Given the description of an element on the screen output the (x, y) to click on. 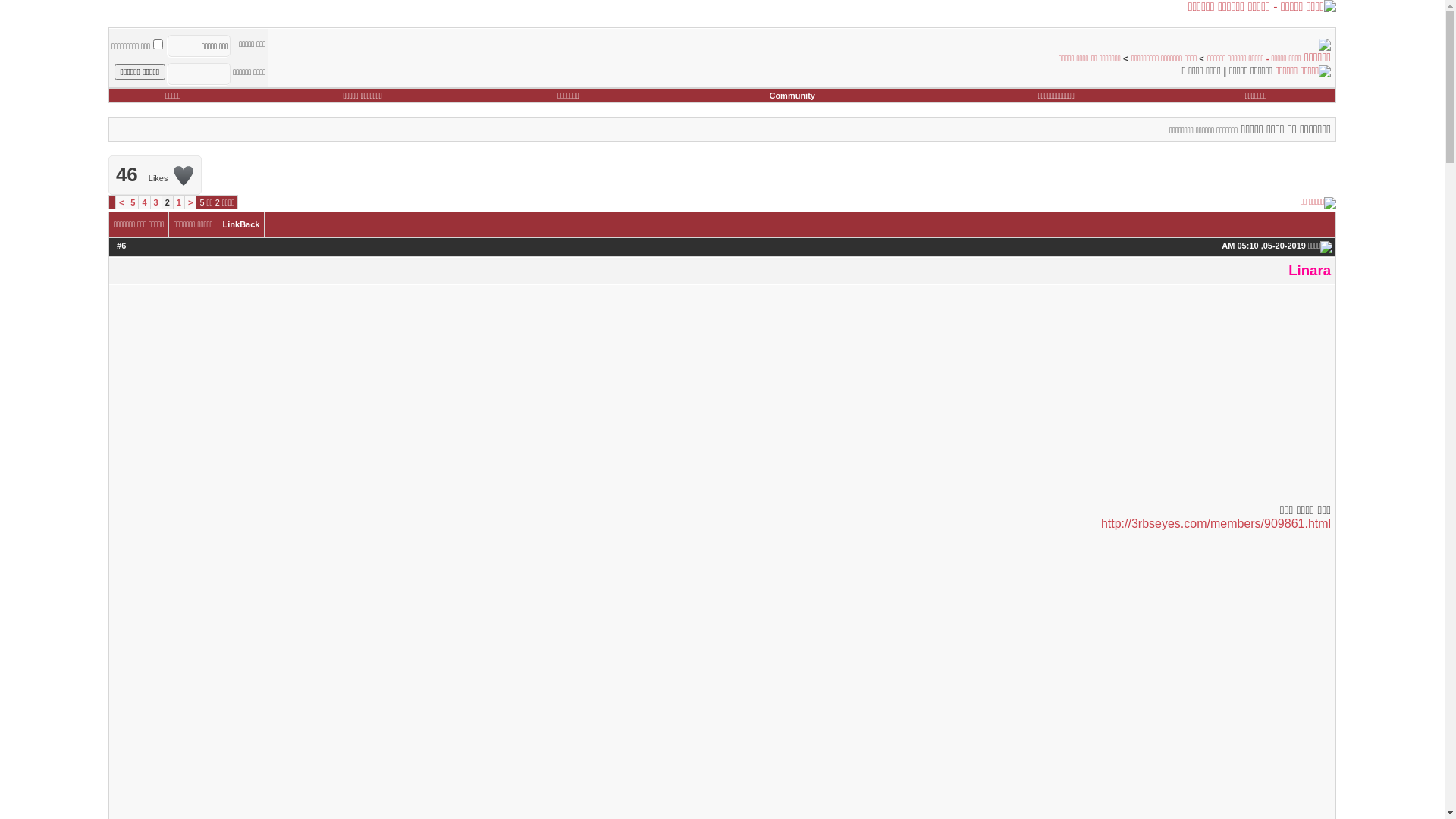
6 Element type: text (123, 245)
1 Element type: text (178, 202)
http://3rbseyes.com/members/909861.html Element type: text (1215, 523)
LinkBack Element type: text (241, 224)
Advertisement Element type: hover (721, 395)
Linara Element type: text (1309, 270)
46Likes Element type: text (155, 175)
showthread.php?s=5a8b641ea891d03a327edfd26c29cfff&t=583918 Element type: hover (112, 201)
< Element type: text (190, 202)
> Element type: text (121, 202)
Smile Element type: hover (1270, 508)
3 Element type: text (155, 202)
5 Element type: text (132, 202)
4 Element type: text (143, 202)
Community Element type: text (791, 95)
